Given the description of an element on the screen output the (x, y) to click on. 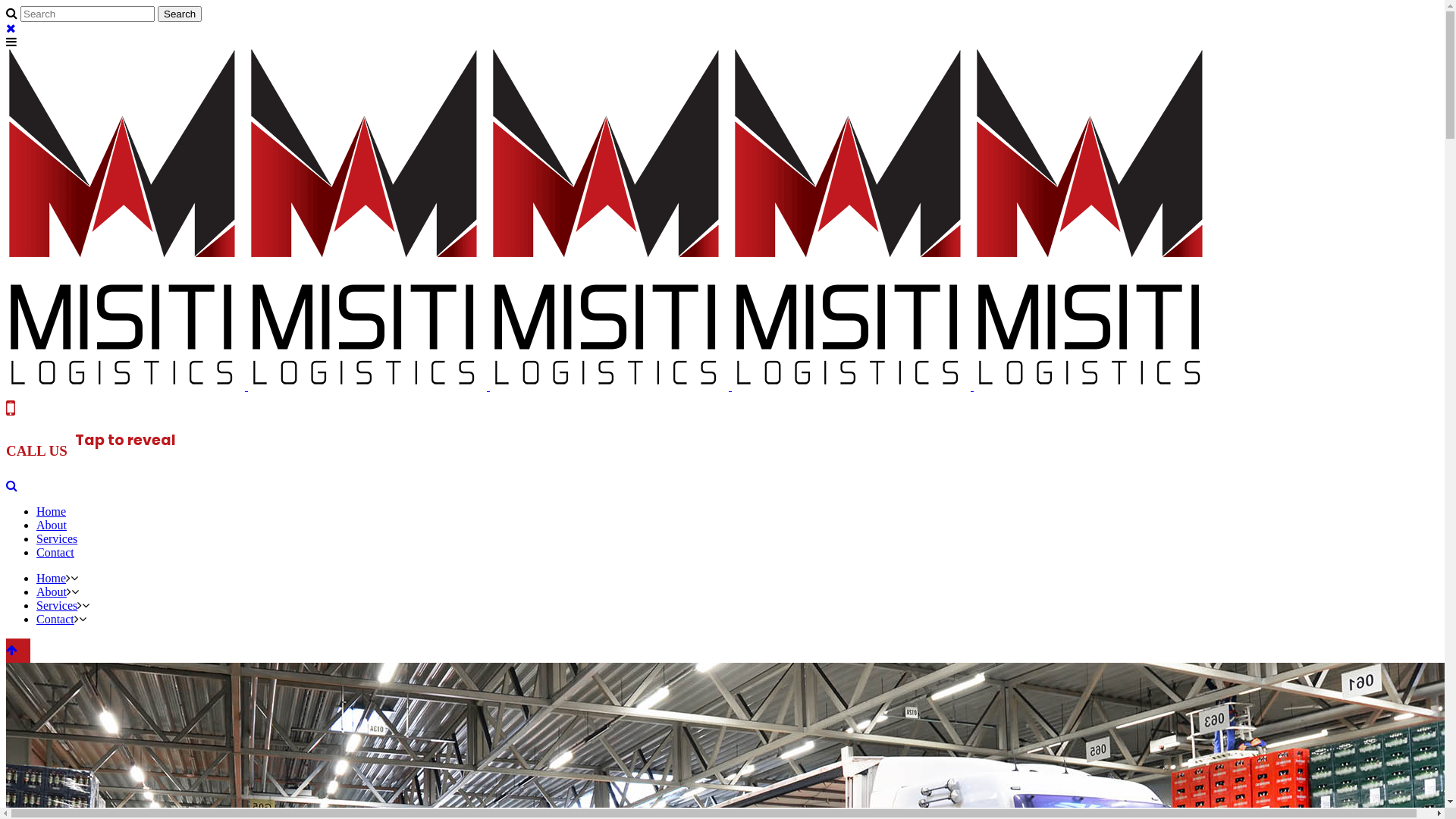
Services Element type: text (56, 605)
Services Element type: text (56, 538)
Home Element type: text (50, 511)
Tap to reveal Element type: text (125, 440)
Search Element type: text (179, 13)
Contact Element type: text (55, 552)
Home Element type: text (50, 577)
Contact Element type: text (55, 618)
About Element type: text (51, 591)
About Element type: text (51, 524)
